Given the description of an element on the screen output the (x, y) to click on. 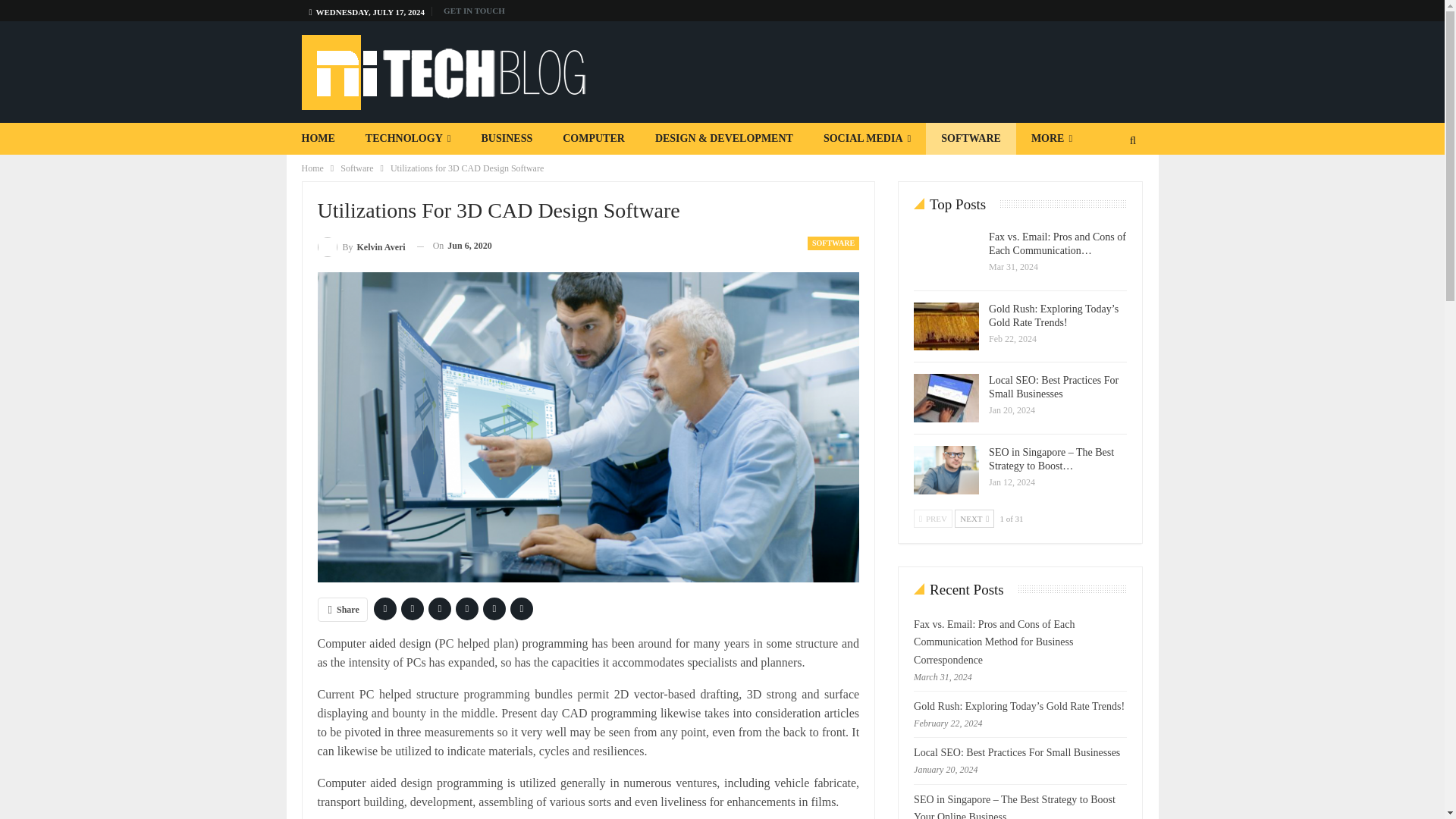
BUSINESS (506, 138)
Browse Author Articles (360, 245)
By Kelvin Averi (360, 245)
GET IN TOUCH (474, 10)
SOFTWARE (971, 138)
Home (312, 167)
HOME (318, 138)
SOFTWARE (833, 243)
MORE (1051, 138)
SOCIAL MEDIA (867, 138)
TECHNOLOGY (407, 138)
COMPUTER (593, 138)
Software (356, 167)
